Given the description of an element on the screen output the (x, y) to click on. 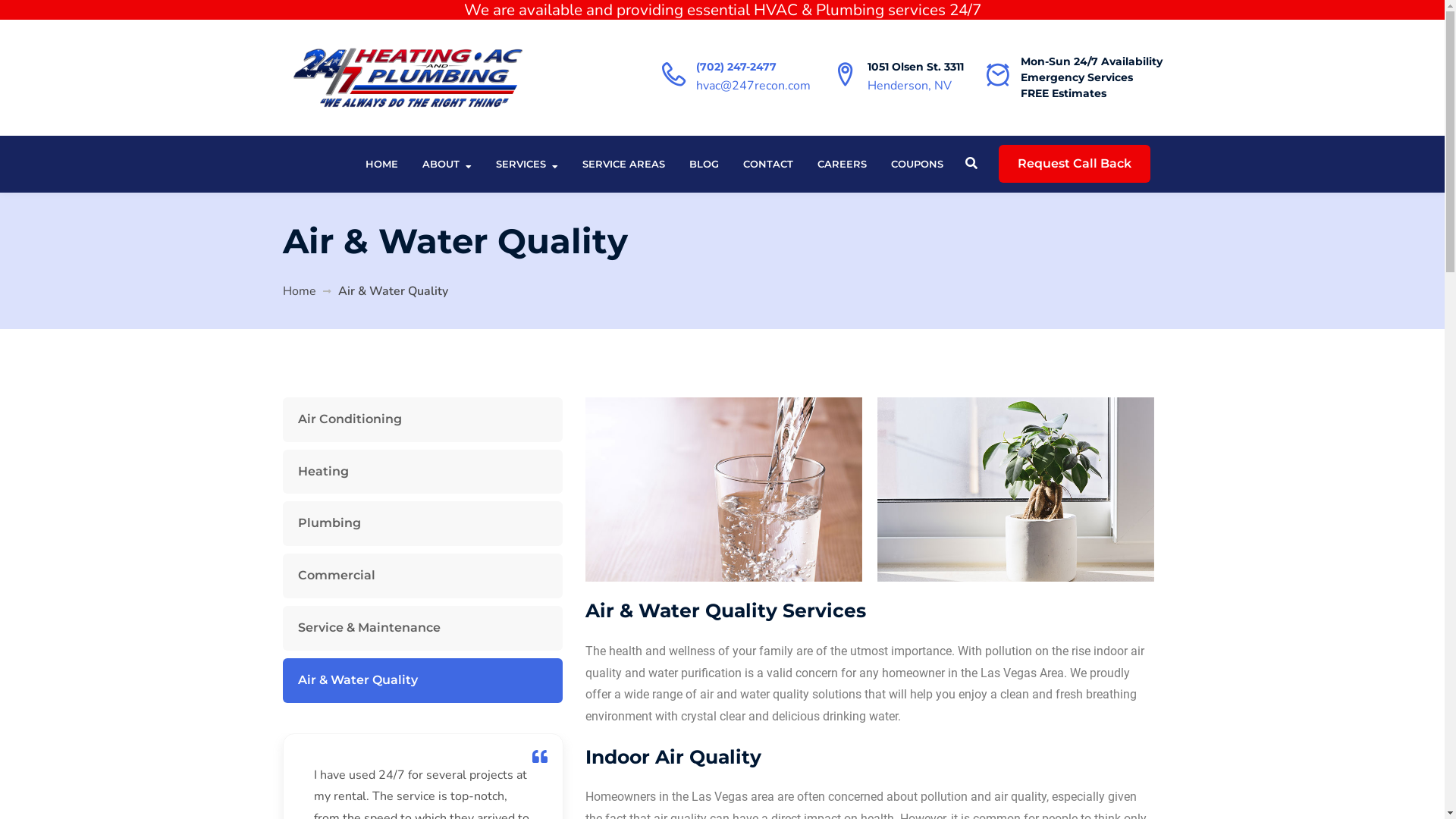
Air Conditioning Element type: text (422, 419)
SERVICES Element type: text (526, 163)
Heating Element type: text (422, 471)
ABOUT Element type: text (445, 163)
BLOG Element type: text (703, 163)
CAREERS Element type: text (841, 163)
Service & Maintenance Element type: text (422, 627)
Plumbing Element type: text (422, 523)
HOME Element type: text (381, 163)
SERVICE AREAS Element type: text (623, 163)
Request Call Back Element type: text (1073, 163)
CONTACT Element type: text (768, 163)
Home Element type: text (298, 290)
COUPONS Element type: text (916, 163)
(702) 247-2477 Element type: text (736, 66)
Commercial Element type: text (422, 575)
hvac@247recon.com Element type: text (753, 85)
Air & Water Quality Element type: text (422, 680)
